Given the description of an element on the screen output the (x, y) to click on. 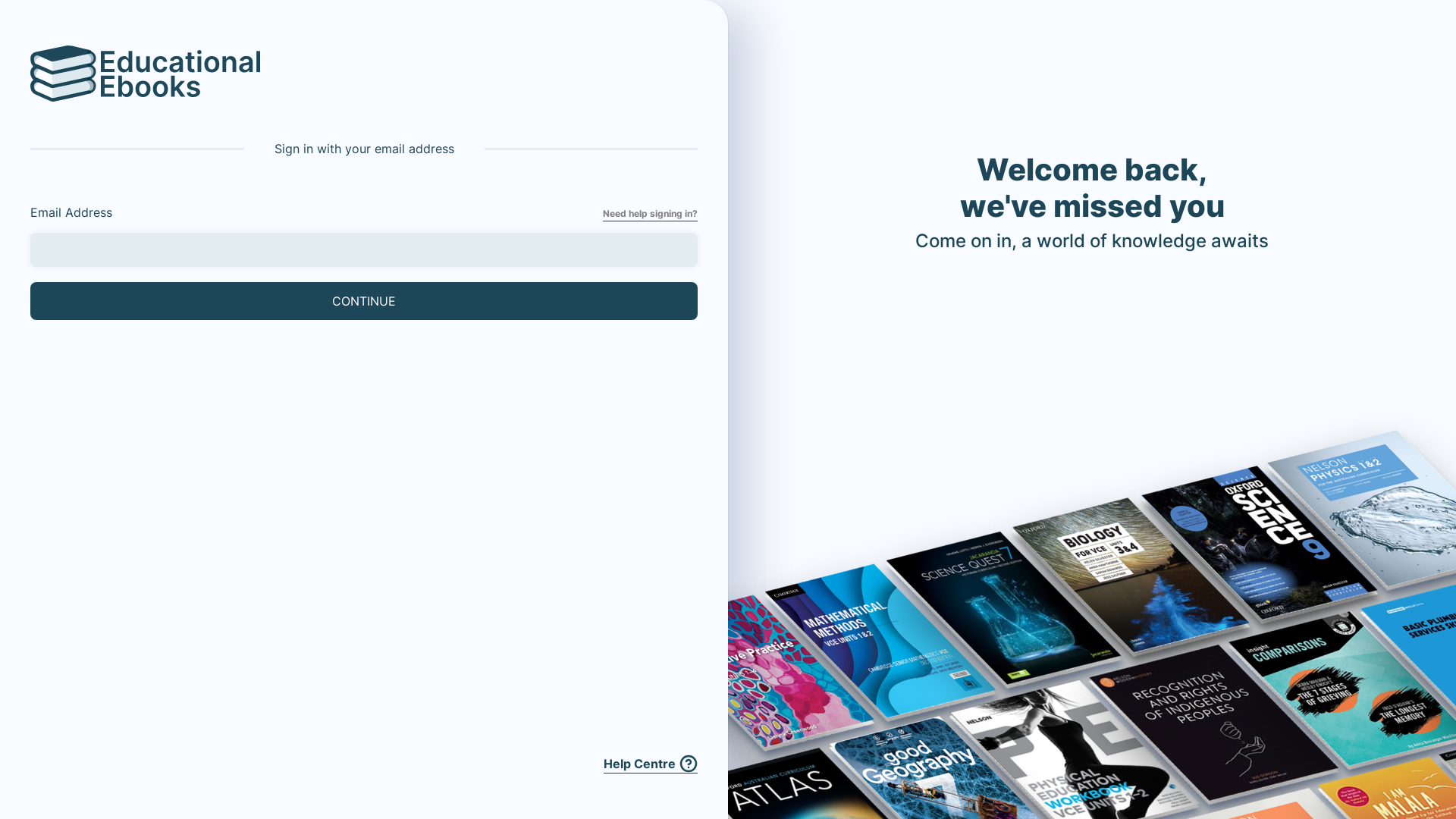
CONTINUE Element type: text (363, 301)
Need help signing in? Element type: text (649, 214)
Help Centre Element type: text (650, 763)
